Given the description of an element on the screen output the (x, y) to click on. 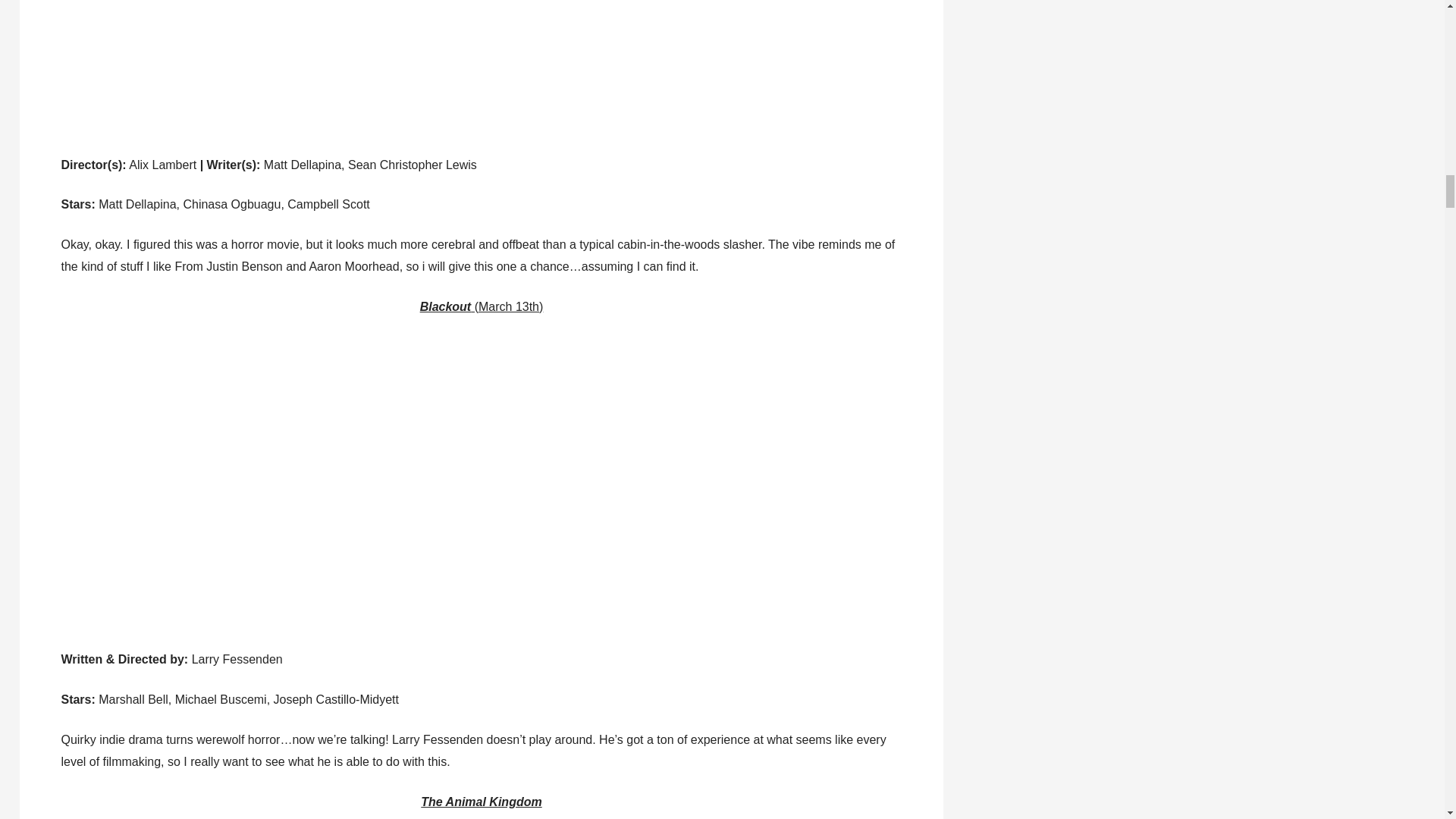
The Woods Are Real - Official Trailer - Gravitas Ventures (321, 67)
